Given the description of an element on the screen output the (x, y) to click on. 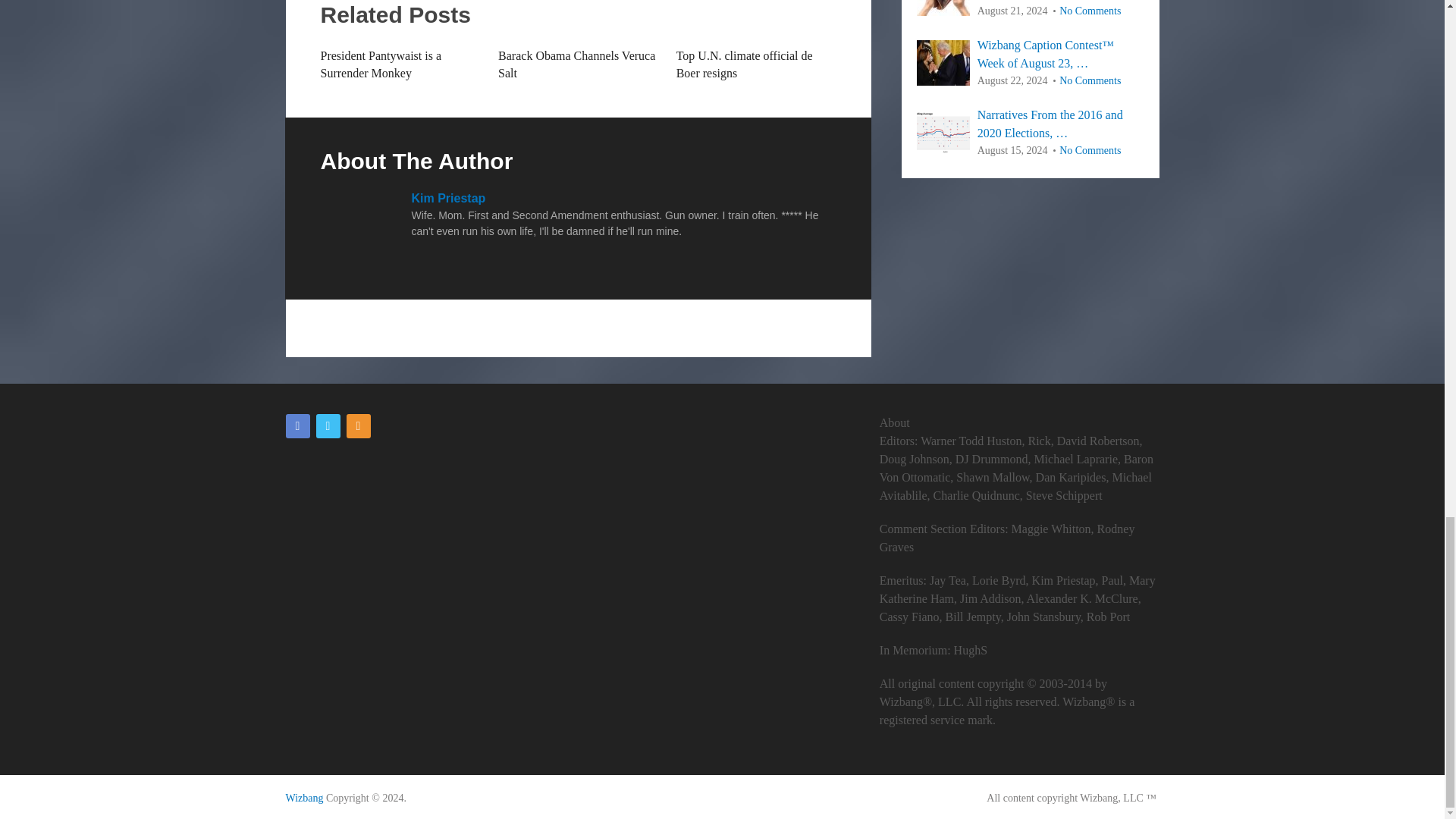
President Pantywaist is a Surrender Monkey (380, 63)
Top U.N. climate official de Boer resigns (744, 63)
President Pantywaist is a Surrender Monkey (380, 63)
Barack Obama Channels Veruca Salt (576, 63)
Barack Obama Channels Veruca Salt (576, 63)
Top U.N. climate official de Boer resigns (744, 63)
Kim Priestap (447, 197)
